Given the description of an element on the screen output the (x, y) to click on. 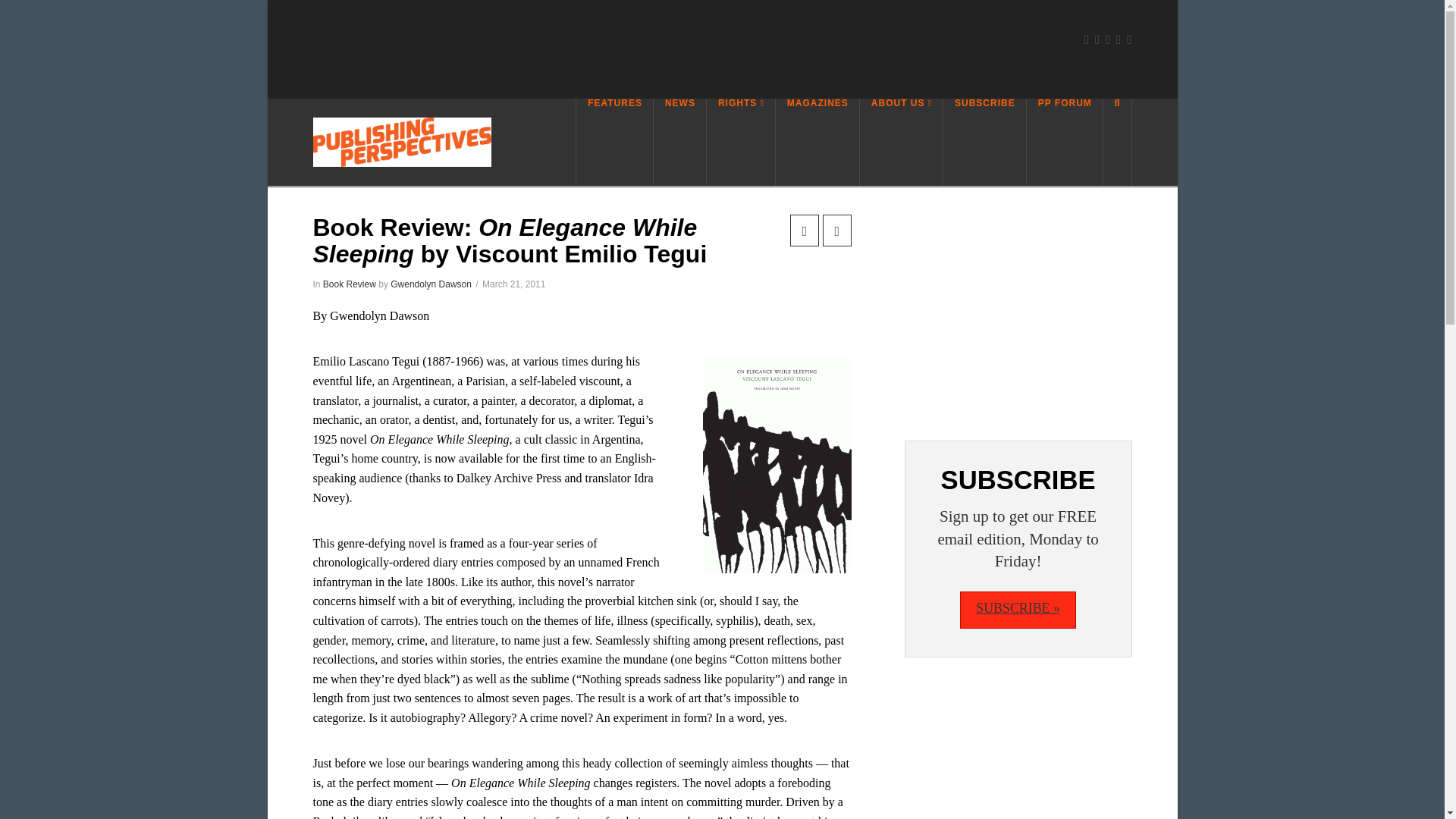
Book Review (349, 284)
SUBSCRIBE (984, 141)
Gwendolyn Dawson (430, 284)
ABOUT US (901, 141)
MAGAZINES (818, 141)
FEATURES (614, 141)
